Given the description of an element on the screen output the (x, y) to click on. 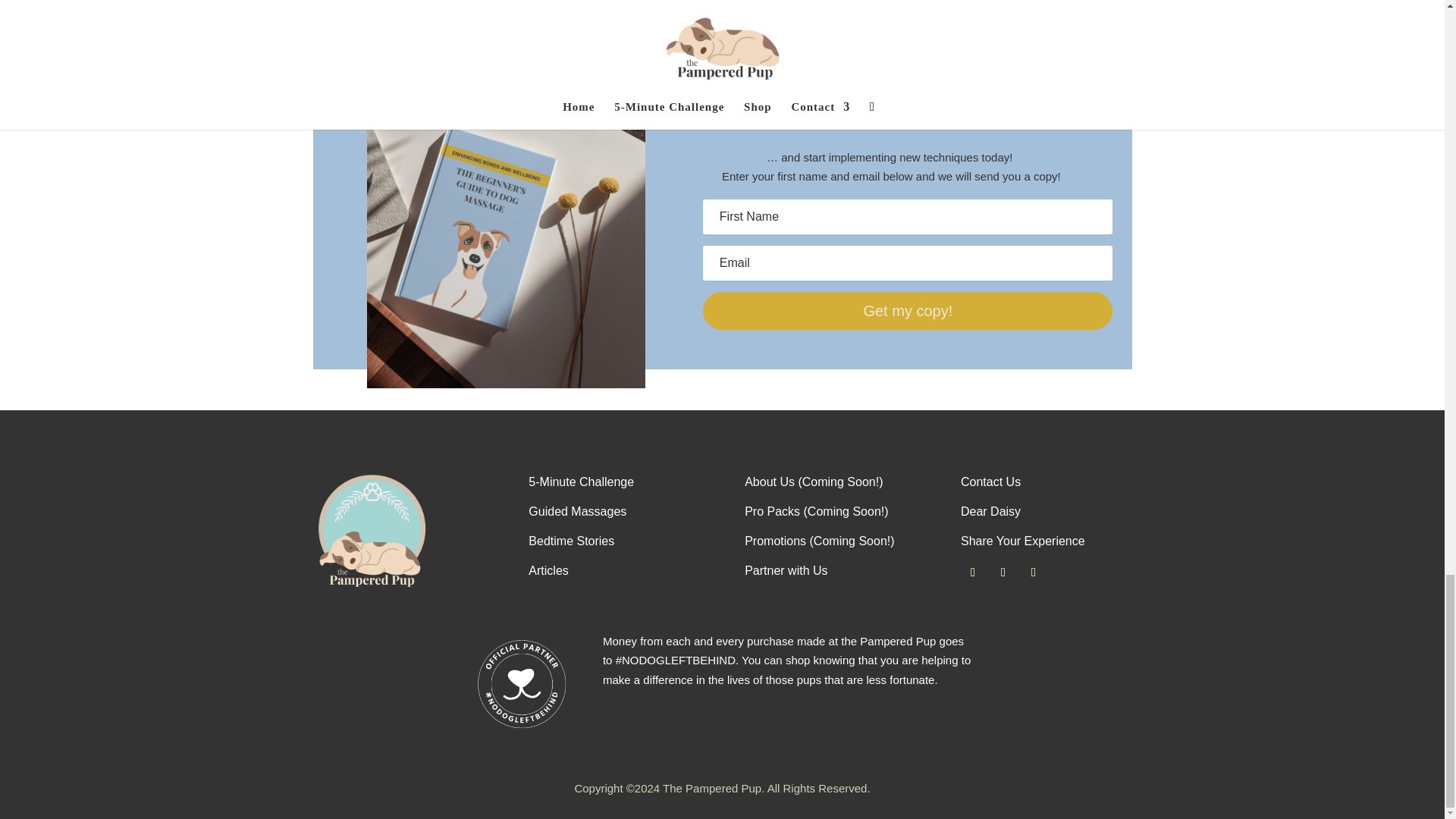
Follow on Facebook (972, 572)
Get my copy! (907, 310)
Follow on TikTok (1002, 572)
Bedtime Stories (571, 540)
Contact Us (990, 481)
Dear Daisy (990, 511)
Beginner's Guide to Massage (505, 248)
No-Dog-Left-Behind-Partner-Badge-White (521, 684)
Follow on Instagram (1033, 572)
Partner with Us (785, 570)
Guided Massages (577, 511)
Share Your Experience (1022, 540)
Articles (547, 570)
The-Pampered-Pup-Logo-3 (371, 530)
5-Minute Challenge (580, 481)
